Given the description of an element on the screen output the (x, y) to click on. 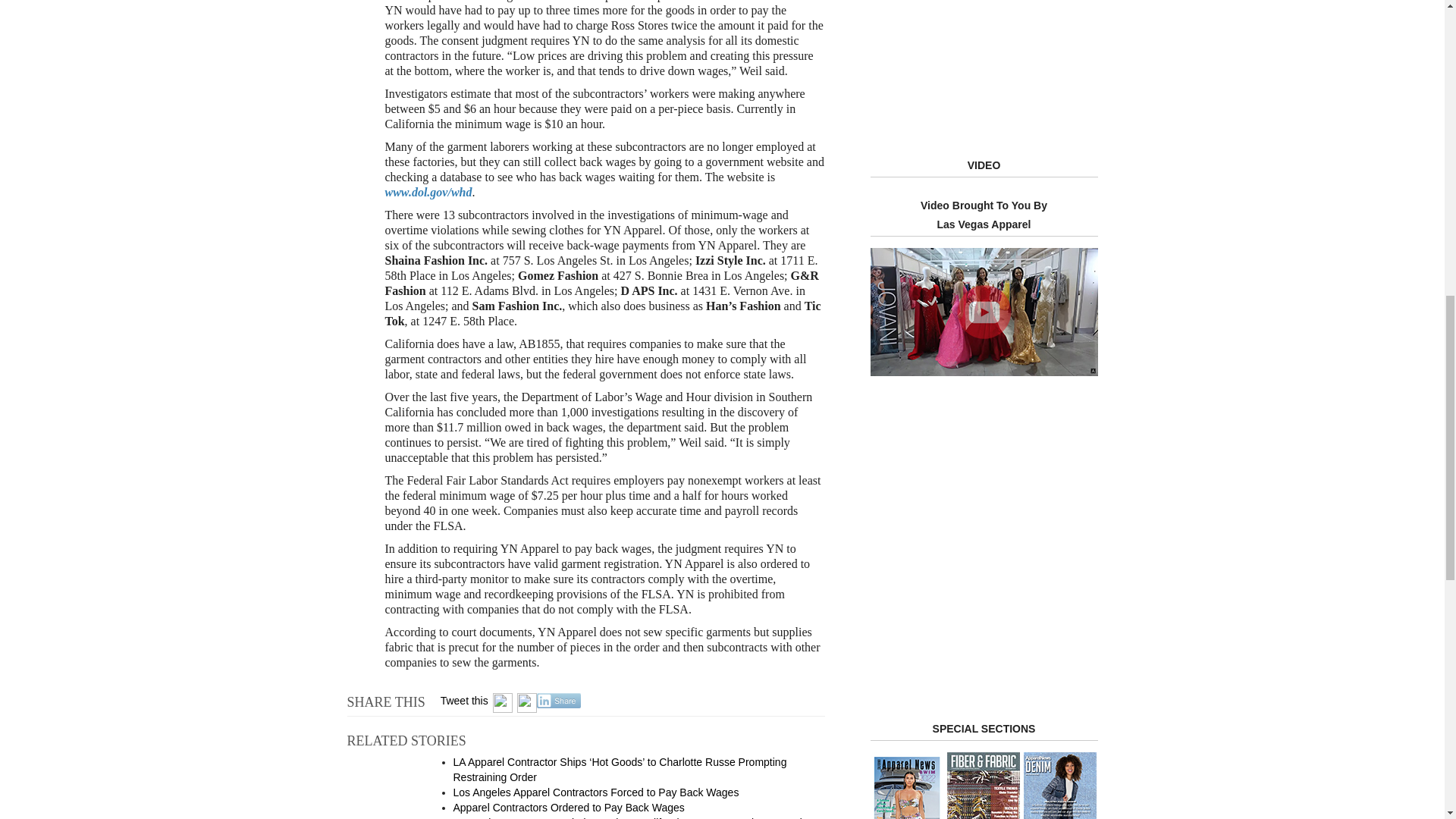
Share (558, 700)
3rd party ad content (982, 443)
Los Angeles Apparel Contractors Forced to Pay Back Wages (595, 792)
3rd party ad content (983, 66)
Apparel Contractors Ordered to Pay Back Wages (568, 807)
Textile Preview (1059, 785)
Tweet this (464, 700)
3rd party ad content (983, 601)
SWIM (906, 785)
